Given the description of an element on the screen output the (x, y) to click on. 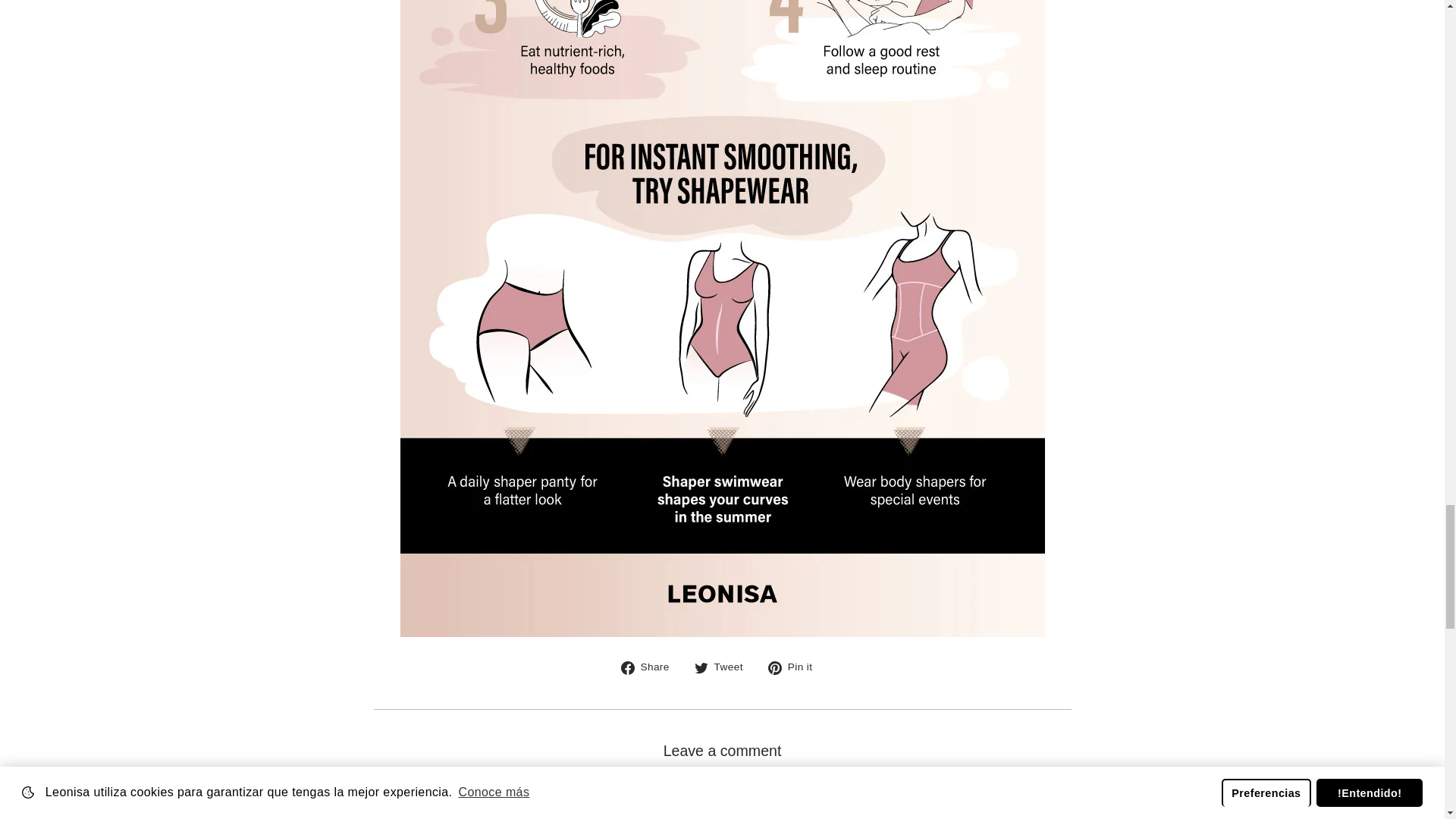
Tweet on Twitter (724, 667)
Pin on Pinterest (796, 667)
Share on Facebook (651, 667)
